Given the description of an element on the screen output the (x, y) to click on. 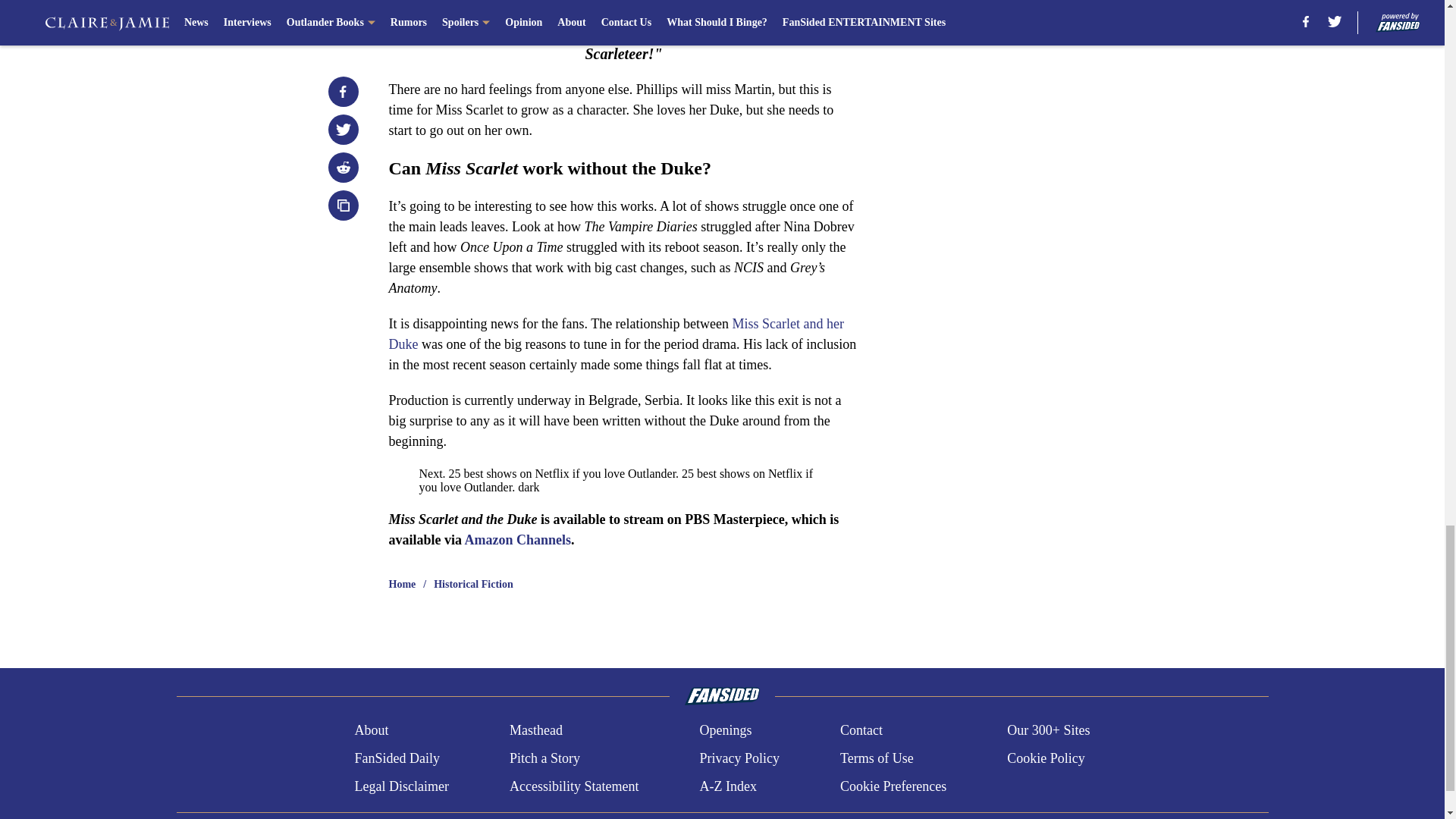
Contact (861, 730)
Pitch a Story (544, 758)
Terms of Use (877, 758)
Amazon Channels (518, 539)
FanSided Daily (396, 758)
Privacy Policy (738, 758)
Historical Fiction (473, 584)
Masthead (535, 730)
Home (401, 584)
About (370, 730)
Legal Disclaimer (400, 786)
Cookie Policy (1045, 758)
Miss Scarlet and her Duke (616, 334)
Openings (724, 730)
